Given the description of an element on the screen output the (x, y) to click on. 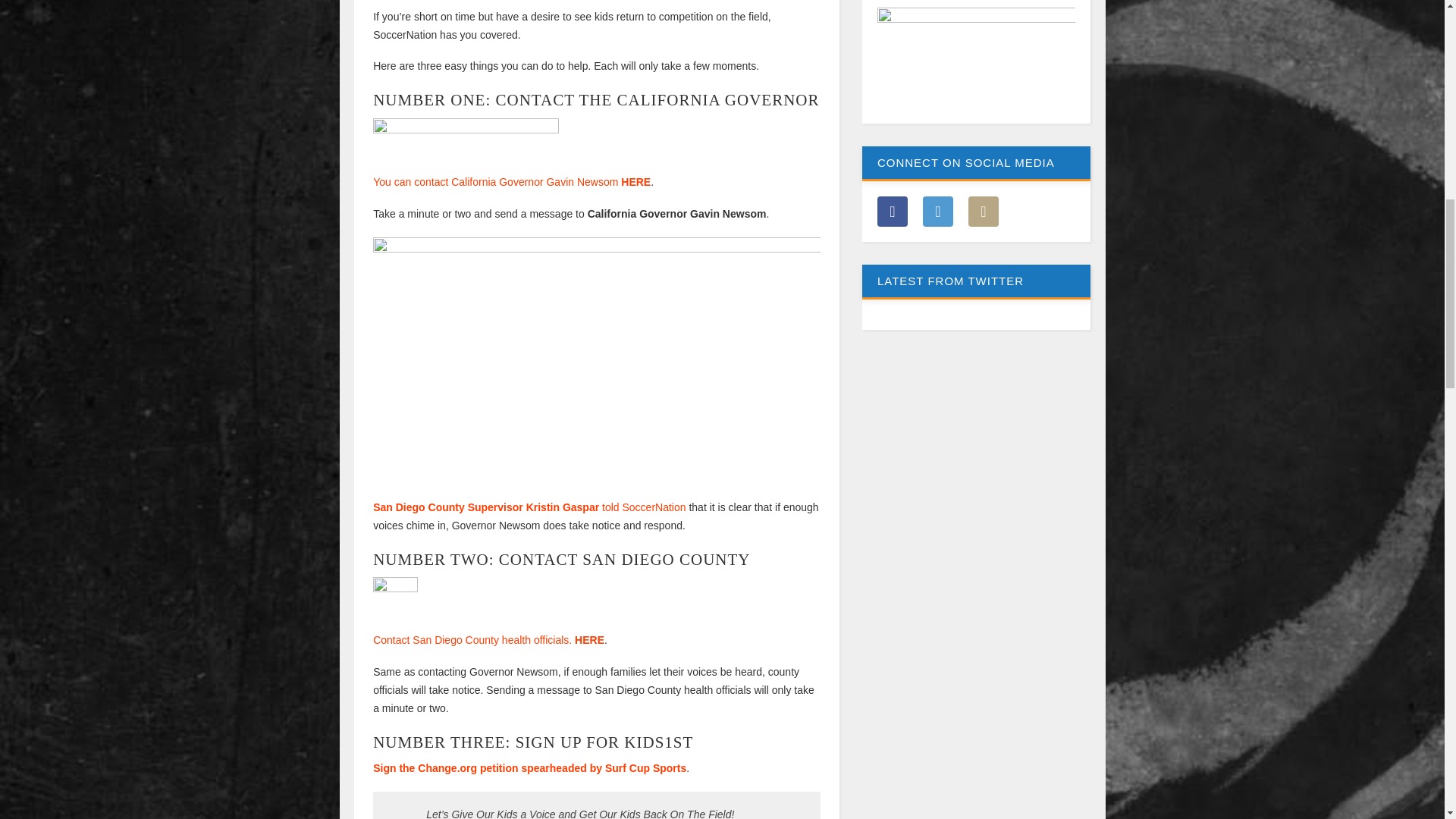
Sign the Change.org petition spearheaded by Surf Cup Sports (528, 767)
instagram (938, 211)
Contact San Diego County health officials. (472, 639)
HERE (635, 182)
San Diego County Supervisor Kristin Gaspar told SoccerNation (528, 507)
LATEST FROM TWITTER (975, 297)
facebook (892, 211)
HERE (589, 639)
You can contact California Governor Gavin Newsom (494, 182)
twitter (983, 211)
